Given the description of an element on the screen output the (x, y) to click on. 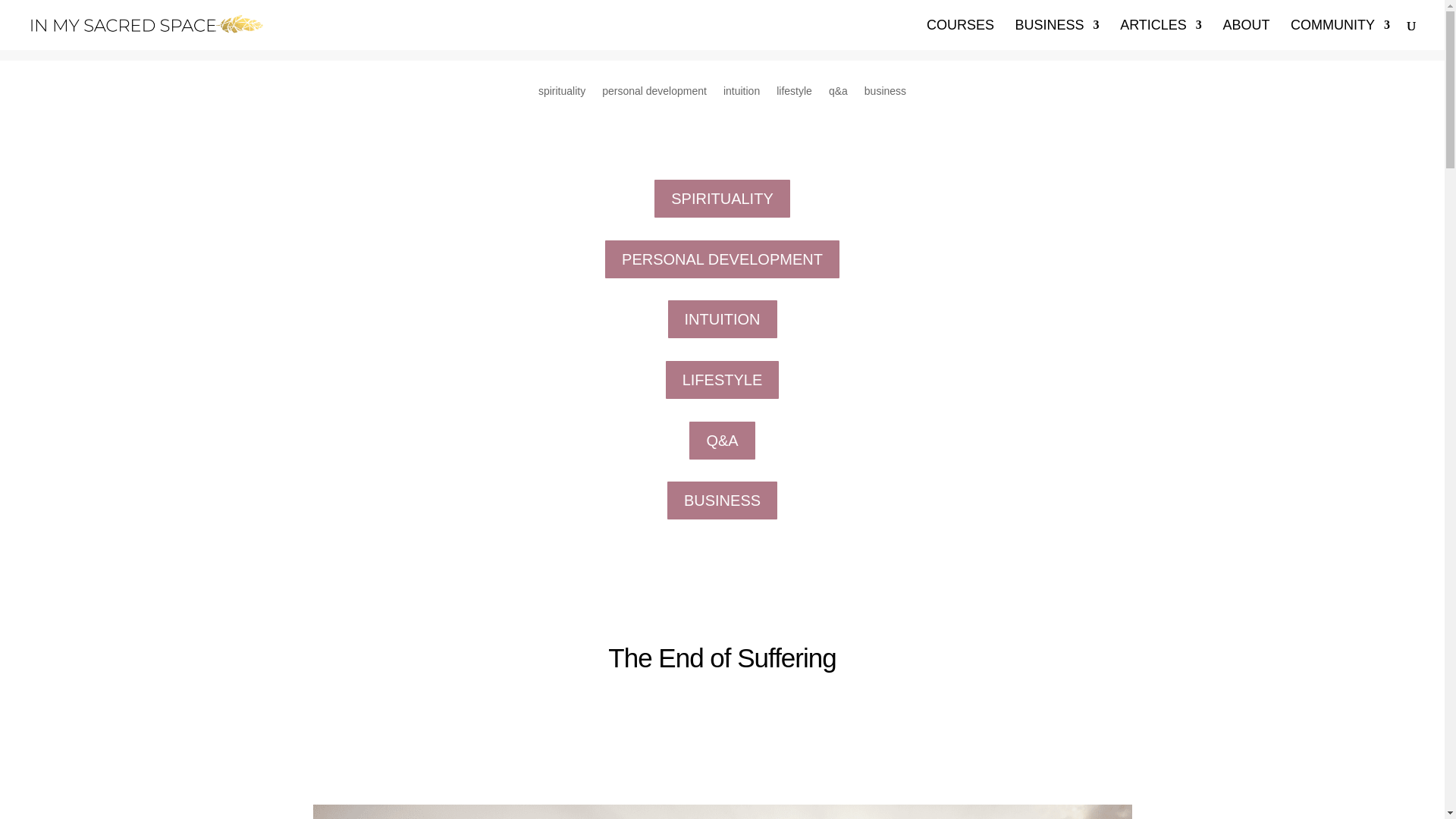
SPIRITUALITY (721, 198)
ABOUT (1246, 34)
BUSINESS (721, 500)
BUSINESS (1056, 34)
personal development (654, 101)
ARTICLES (1160, 34)
grief (722, 811)
intuition (741, 101)
PERSONAL DEVELOPMENT (722, 259)
COURSES (960, 34)
